Given the description of an element on the screen output the (x, y) to click on. 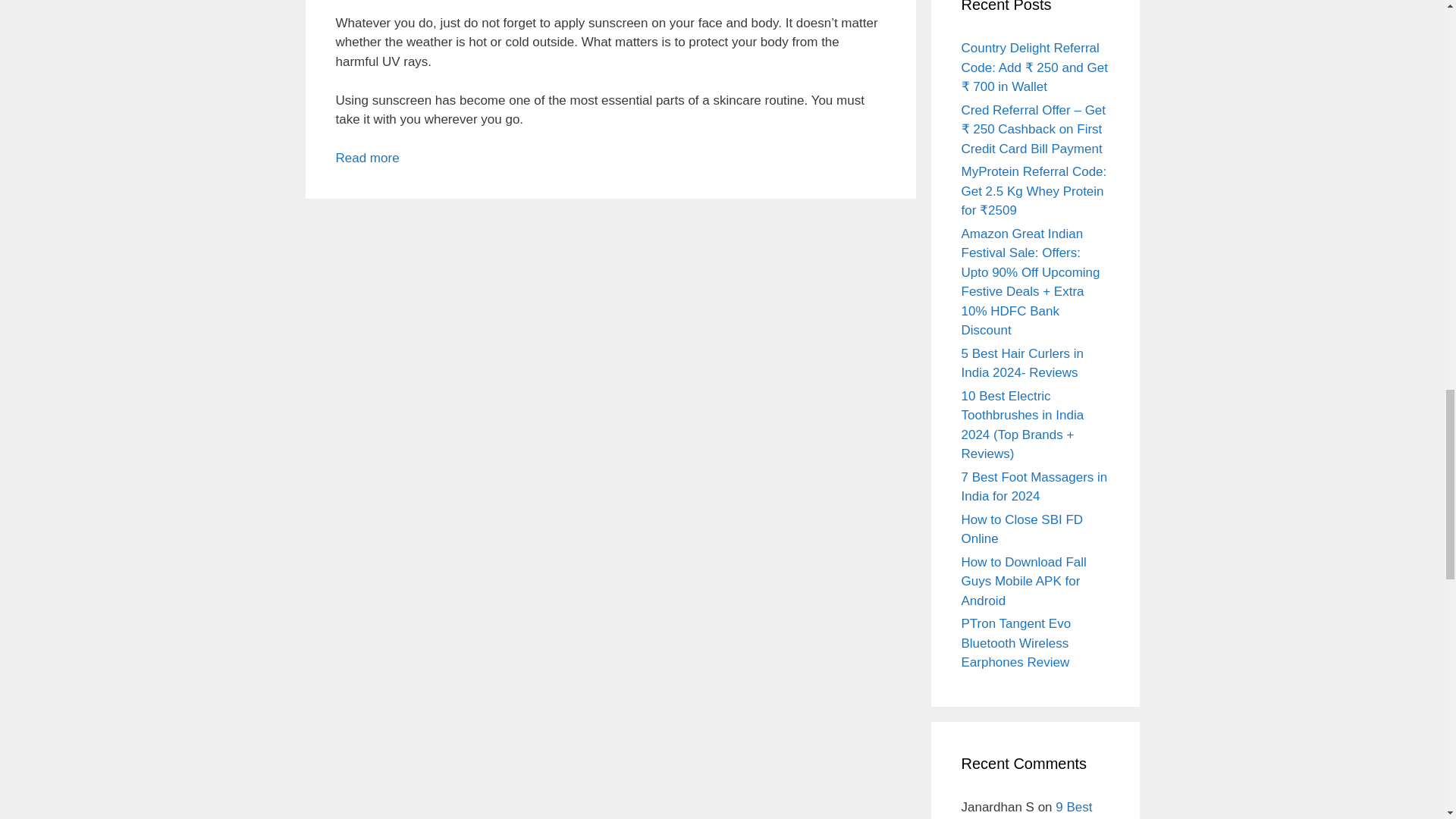
Read more (366, 157)
